Given the description of an element on the screen output the (x, y) to click on. 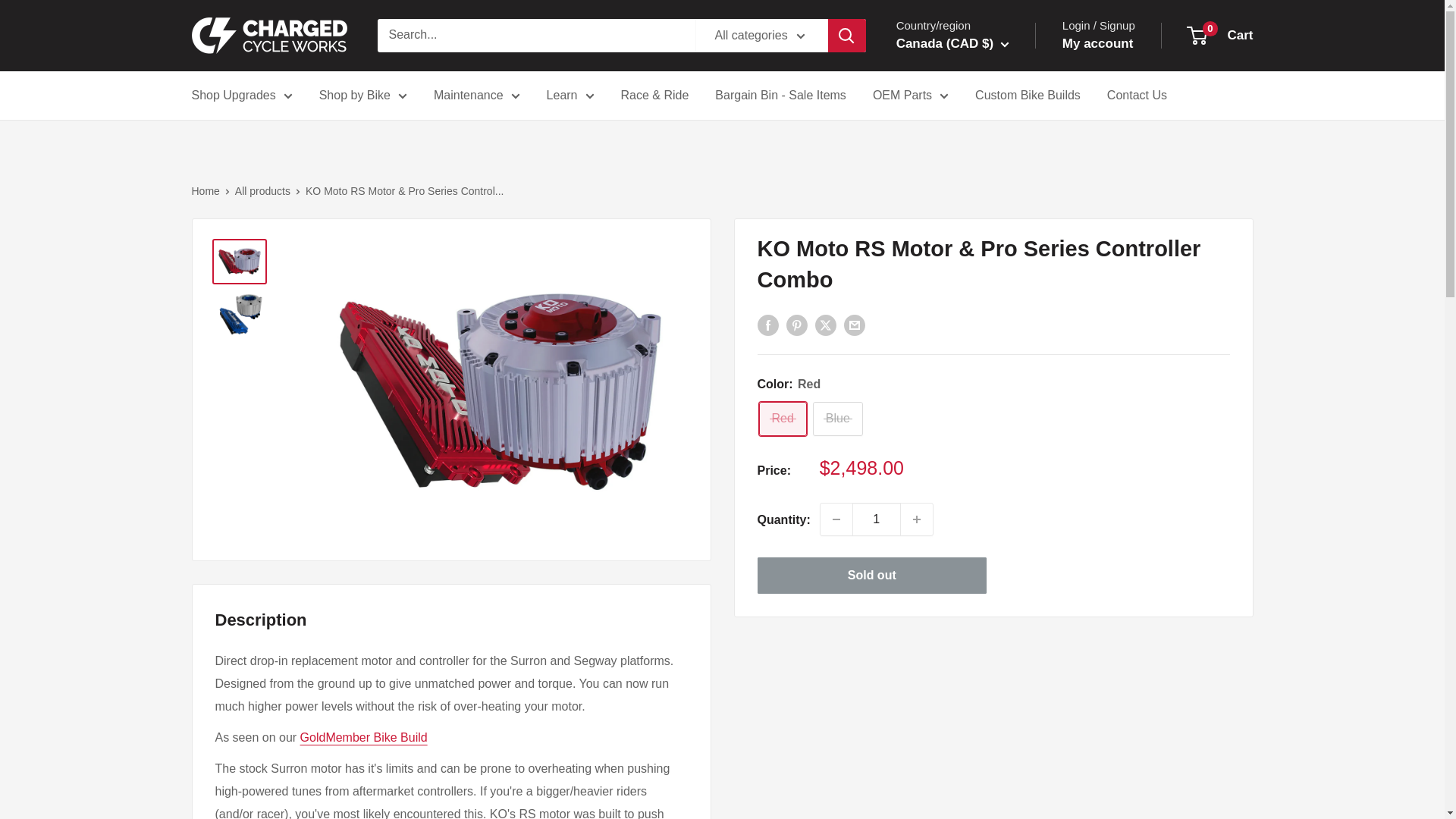
1 (876, 519)
Blue (837, 418)
Increase quantity by 1 (917, 519)
Decrease quantity by 1 (836, 519)
Red (782, 418)
